Given the description of an element on the screen output the (x, y) to click on. 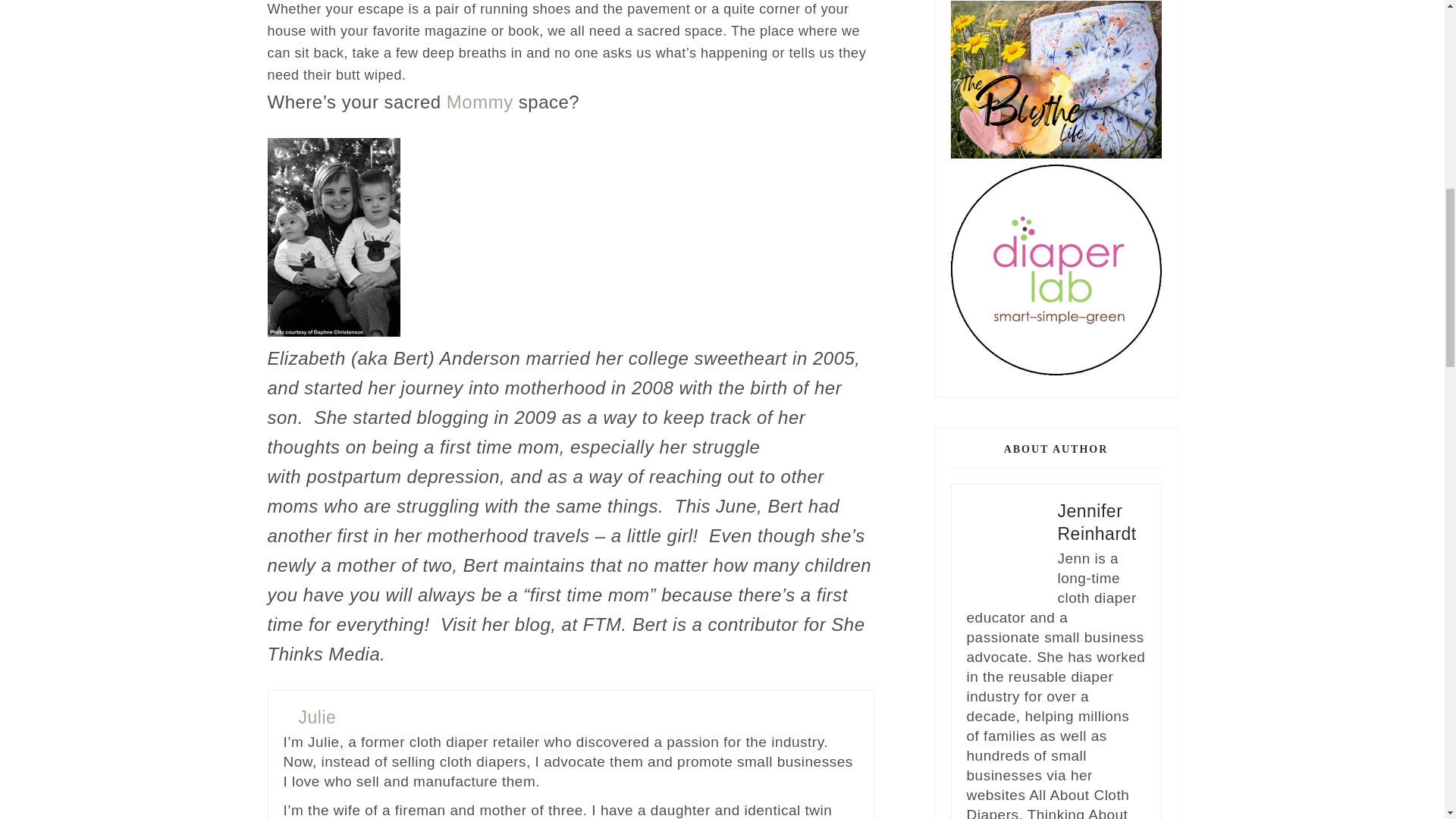
Julie (317, 717)
Jennifer Reinhardt (1096, 522)
Mommy (479, 101)
